Given the description of an element on the screen output the (x, y) to click on. 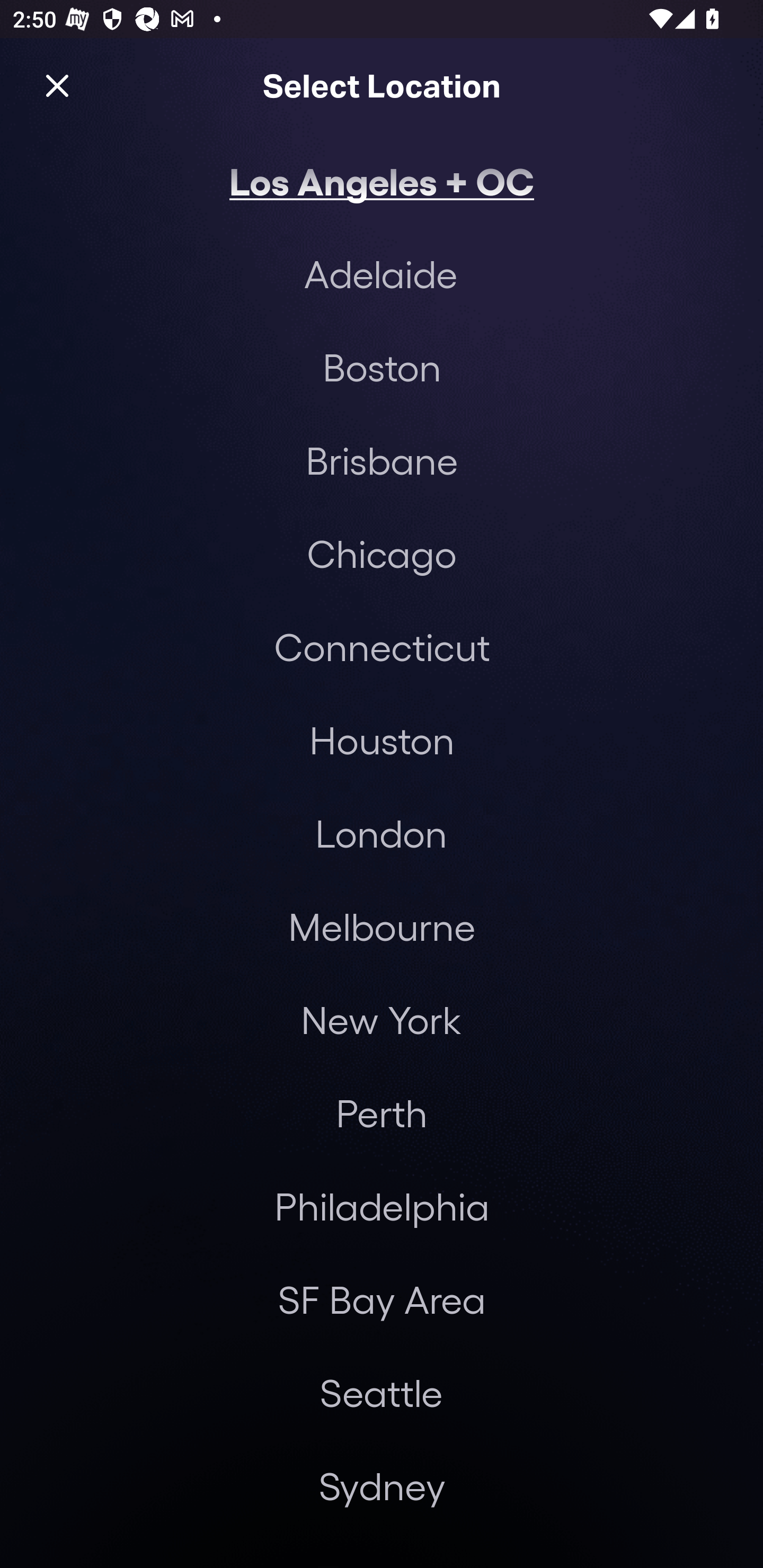
Close (57, 85)
Los Angeles + OC (381, 180)
Adelaide (380, 273)
Boston (381, 366)
Brisbane (381, 459)
Chicago (381, 553)
Connecticut (381, 646)
Houston (381, 740)
London (380, 833)
Melbourne (381, 926)
New York (380, 1019)
Perth (381, 1113)
Philadelphia (381, 1206)
SF Bay Area (381, 1298)
Seattle (380, 1392)
Sydney (381, 1485)
